Given the description of an element on the screen output the (x, y) to click on. 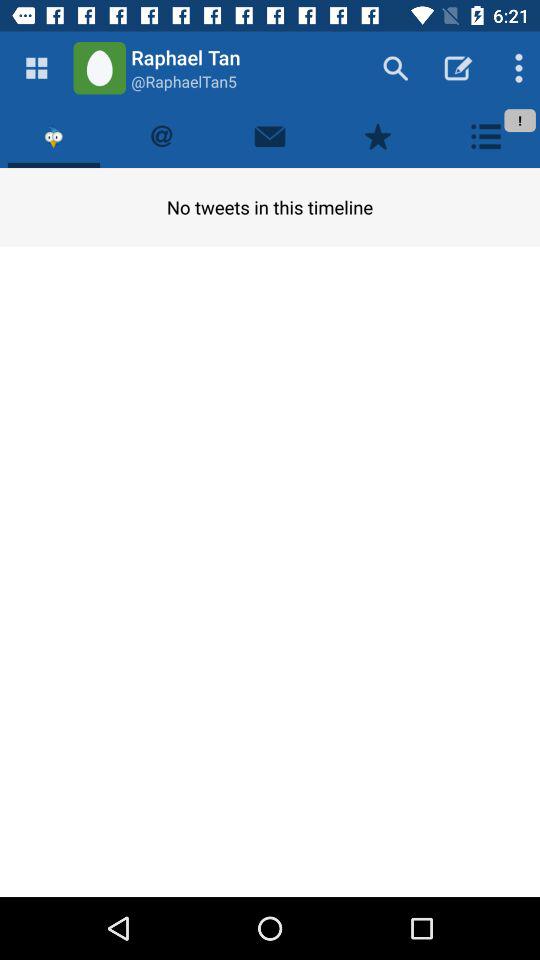
large icons (36, 68)
